Given the description of an element on the screen output the (x, y) to click on. 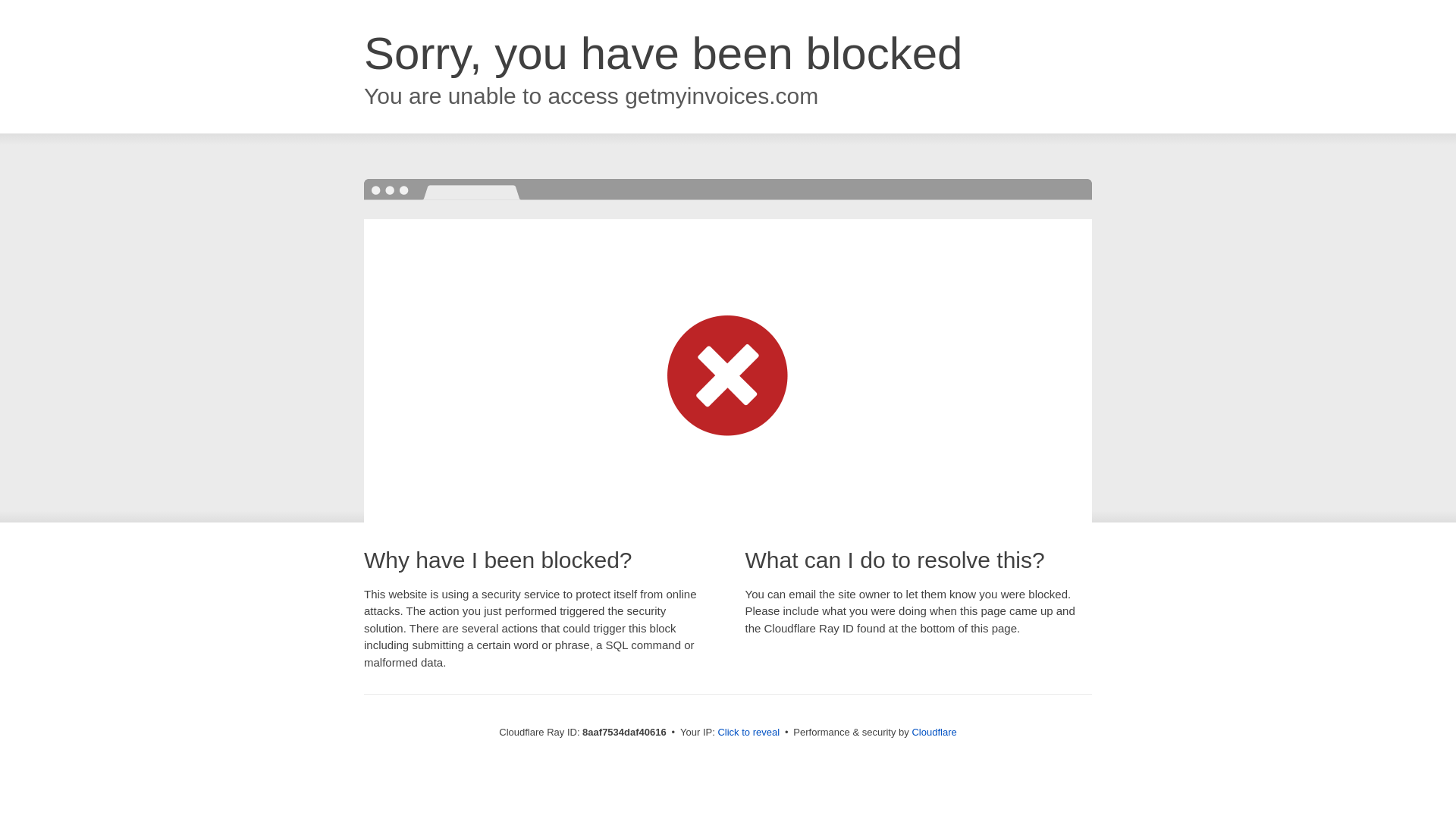
Click to reveal (747, 732)
Cloudflare (933, 731)
